Given the description of an element on the screen output the (x, y) to click on. 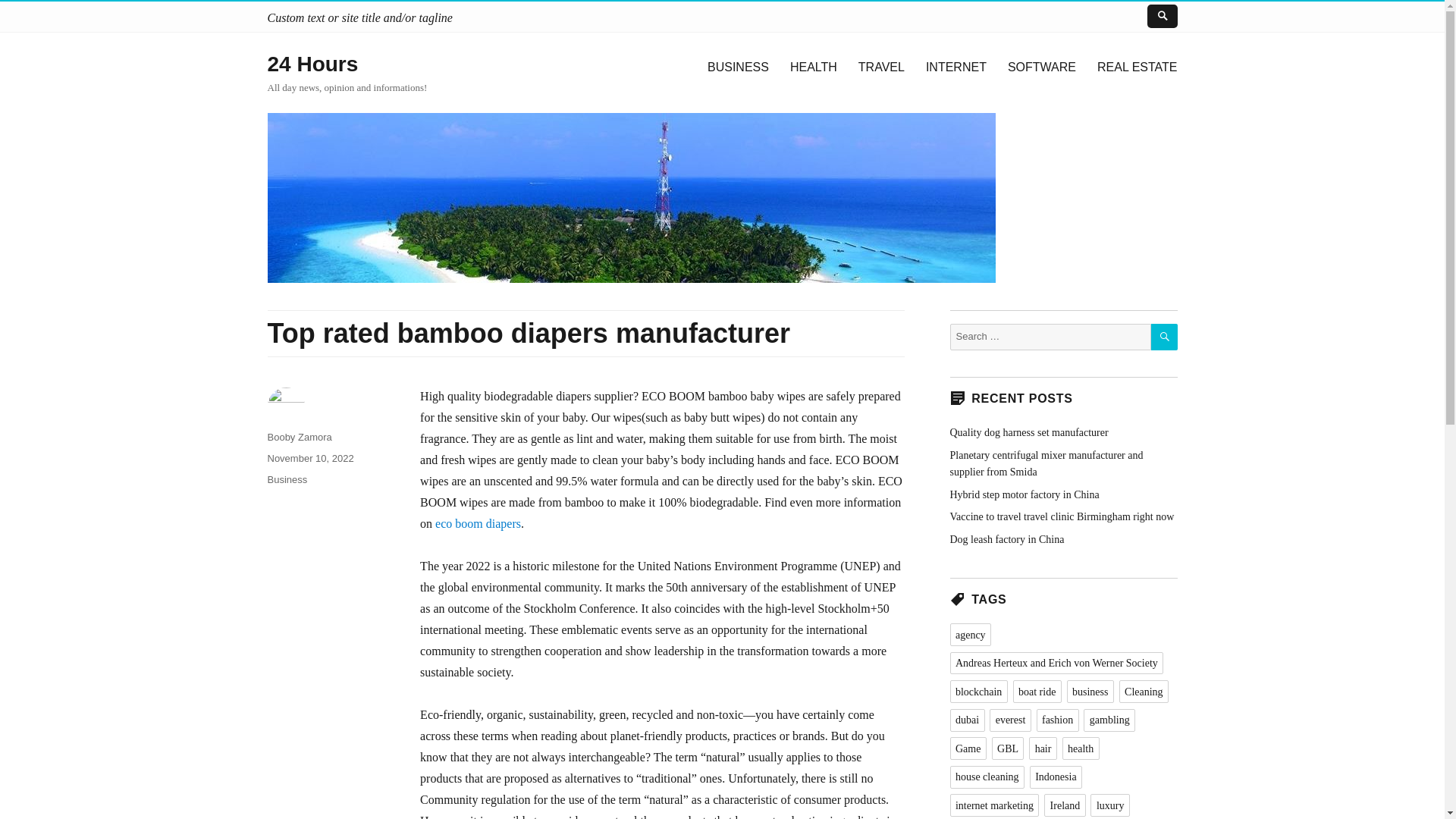
SEARCH (1164, 336)
everest (1010, 720)
Hybrid step motor factory in China (1024, 494)
fashion (1057, 720)
INTERNET (956, 66)
gambling (1109, 720)
November 10, 2022 (309, 458)
house cleaning (987, 776)
HEALTH (812, 66)
Dog leash factory in China (1006, 539)
Indonesia (1055, 776)
TRAVEL (881, 66)
Quality dog harness set manufacturer (1028, 432)
agency (970, 634)
SOFTWARE (1041, 66)
